Given the description of an element on the screen output the (x, y) to click on. 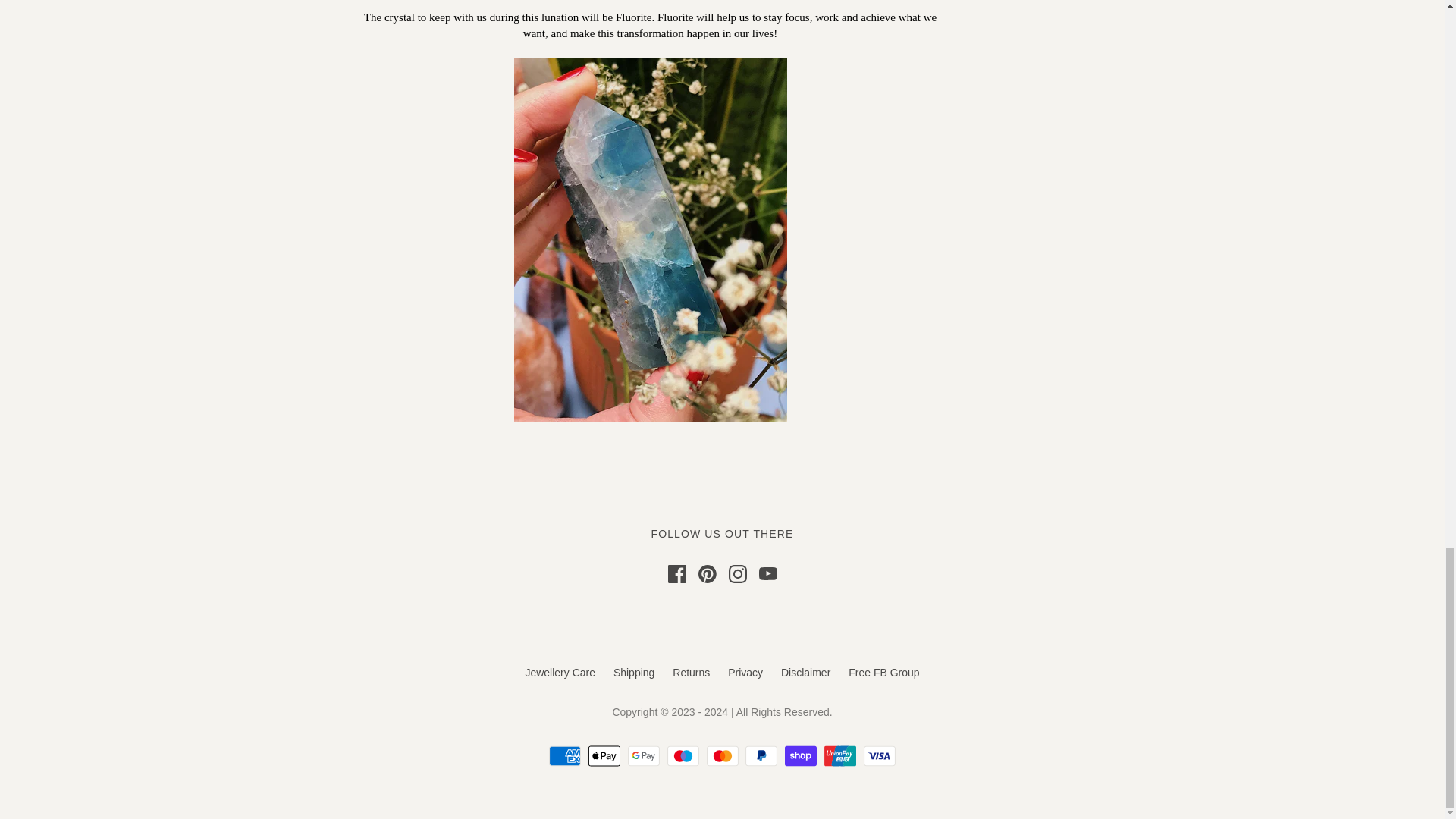
Mastercard (722, 755)
PayPal (761, 755)
Google Pay (643, 755)
Instagram Icon (736, 574)
American Express (564, 755)
Youtube Icon (767, 574)
Pinterest Icon (706, 574)
Facebook Icon (675, 574)
Maestro (682, 755)
Shop Pay (800, 755)
Apple Pay (604, 755)
